Given the description of an element on the screen output the (x, y) to click on. 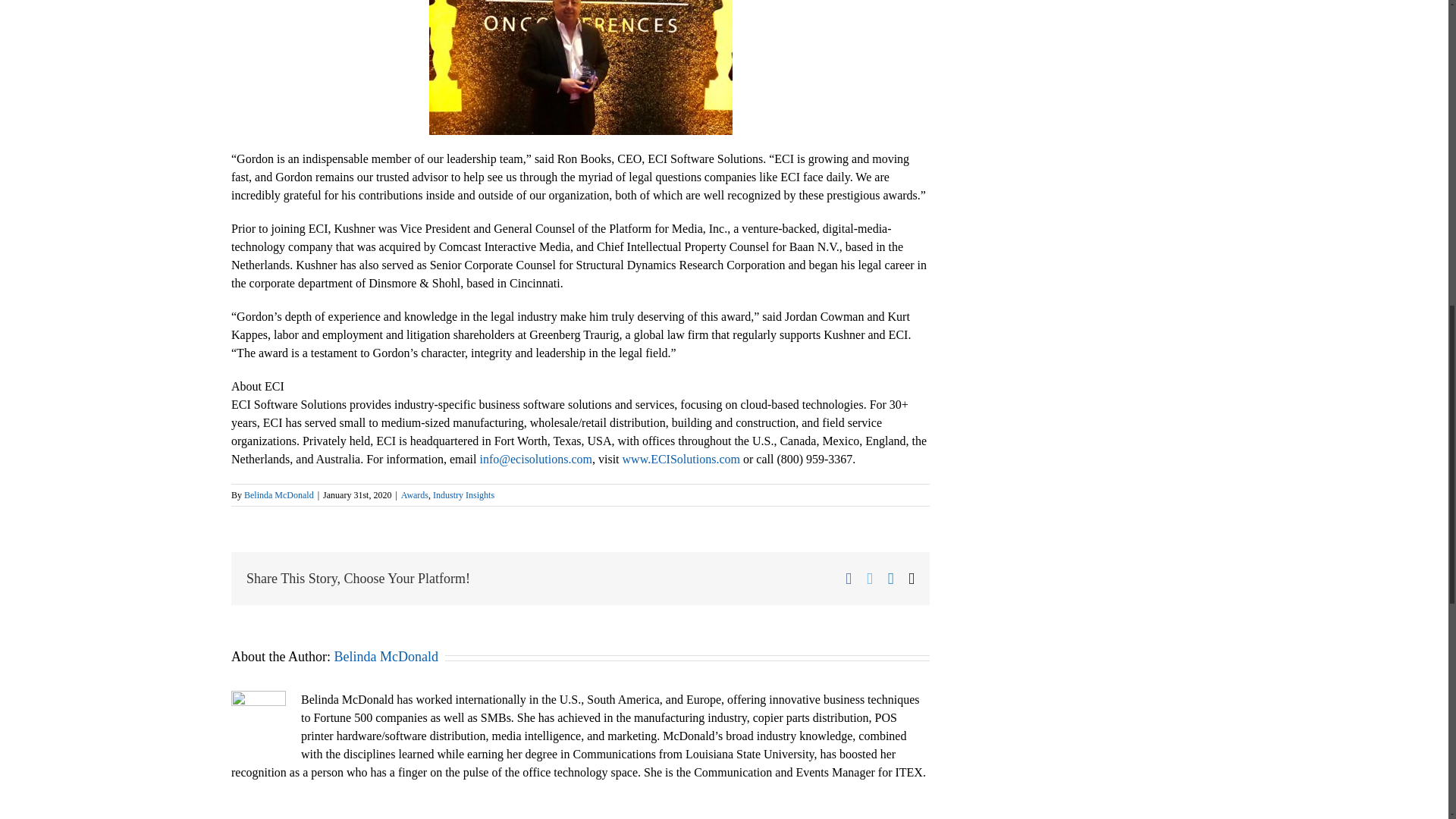
Facebook (848, 578)
Email (911, 578)
Twitter (869, 578)
Email (911, 578)
Posts by Belinda McDonald (385, 656)
Facebook (848, 578)
www.ECISolutions.com (681, 459)
Belinda McDonald (279, 494)
Posts by Belinda McDonald (279, 494)
LinkedIn (890, 578)
LinkedIn (890, 578)
Twitter (869, 578)
Industry Insights (463, 494)
Belinda McDonald (385, 656)
Gordon Kushner Top 50 General Counsel ICON Awards 2020 (580, 67)
